Given the description of an element on the screen output the (x, y) to click on. 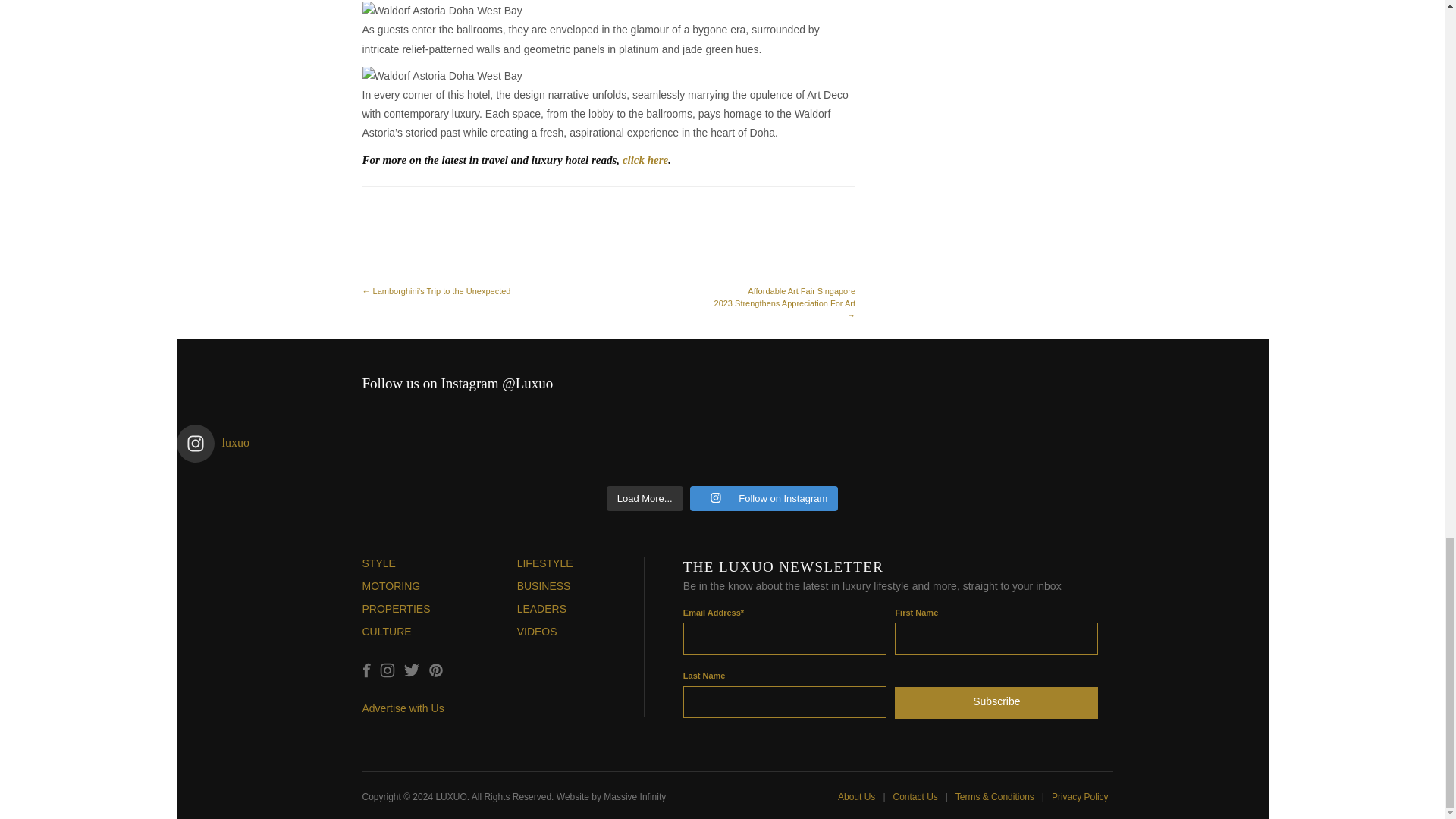
2023 - A trip to the unexpected (475, 265)
Subscribe (996, 698)
Previous article : Lamborghini's Trip to the Unexpected (437, 249)
